Given the description of an element on the screen output the (x, y) to click on. 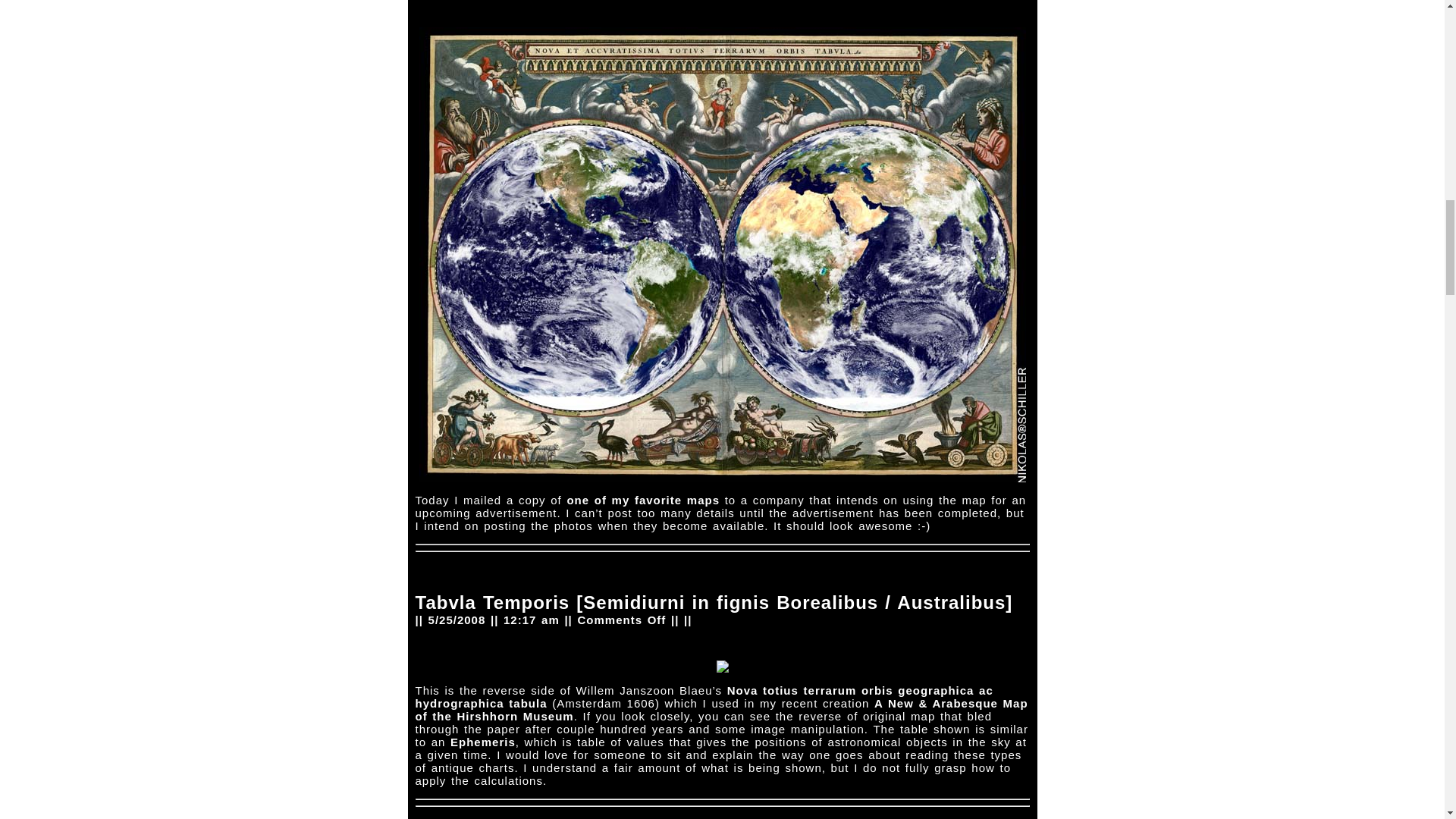
one of my favorite maps (642, 499)
Ephemeris (482, 741)
